Given the description of an element on the screen output the (x, y) to click on. 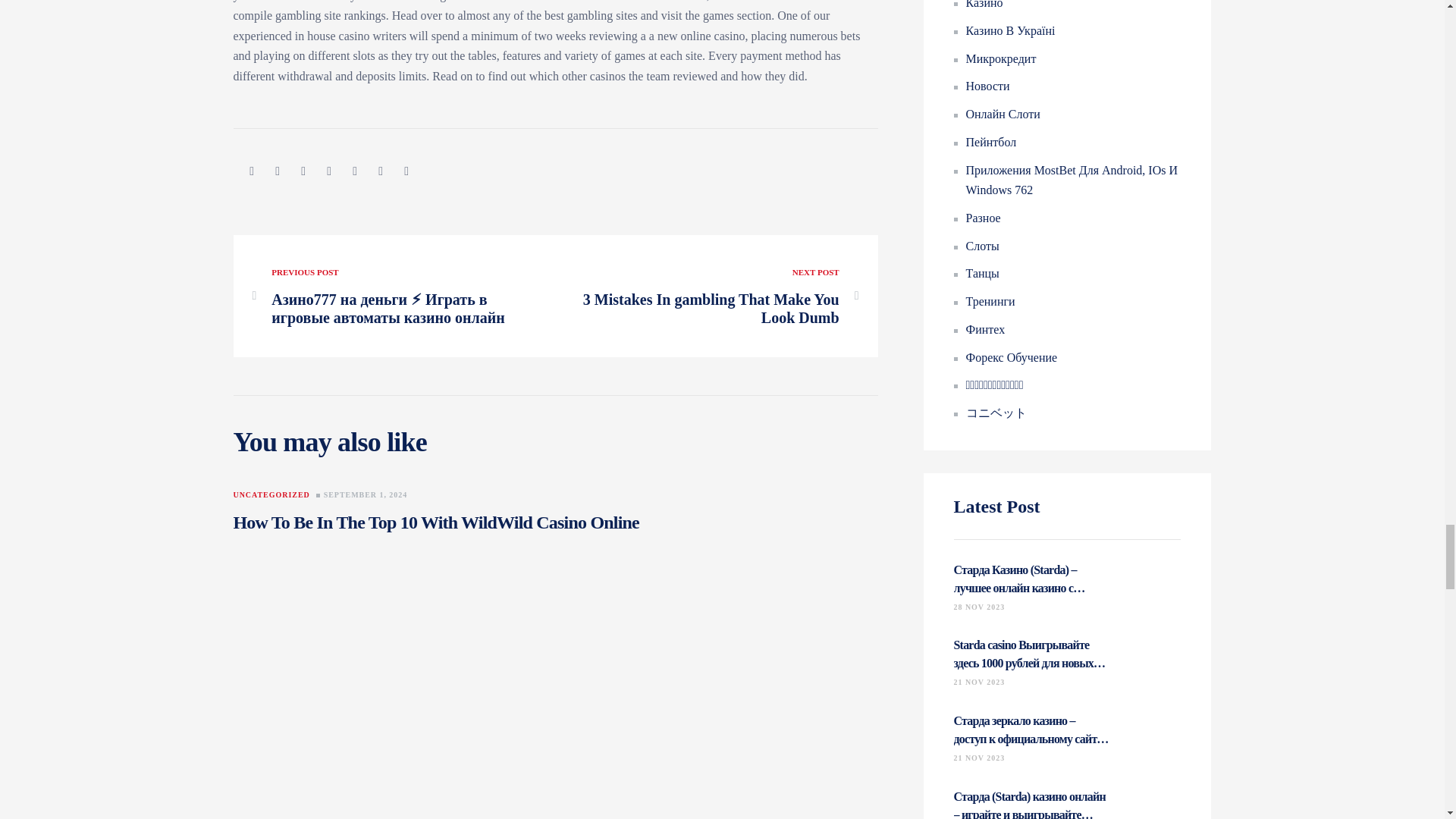
How To Be In The Top 10 With WildWild Casino Online (717, 295)
SEPTEMBER 1, 2024 (435, 522)
UNCATEGORIZED (365, 495)
